Given the description of an element on the screen output the (x, y) to click on. 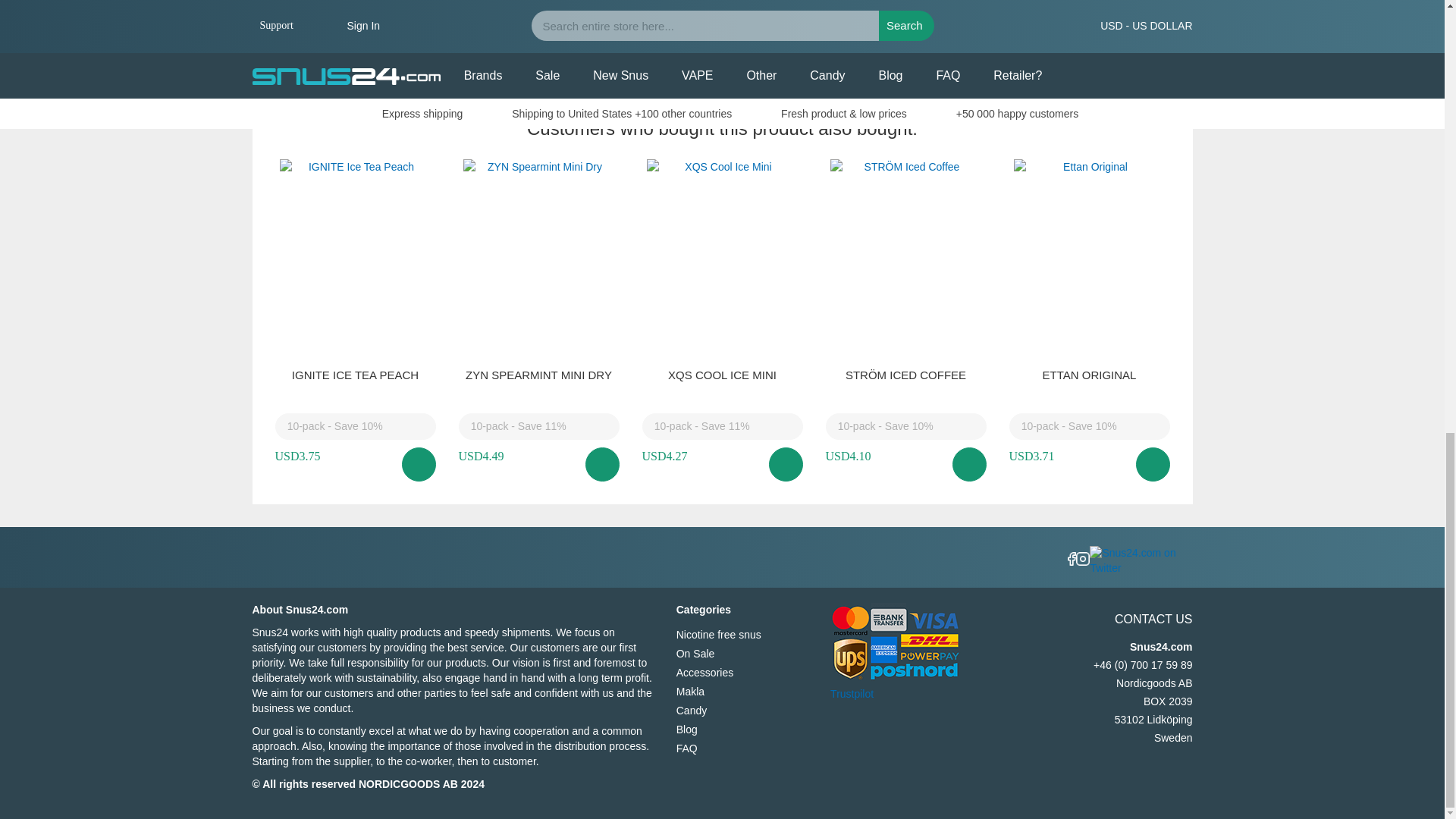
IGNITE Ice Tea Peach (355, 374)
ZYN Spearmint Mini Dry (538, 374)
Add to Cart (418, 464)
Add to Cart (602, 464)
